Given the description of an element on the screen output the (x, y) to click on. 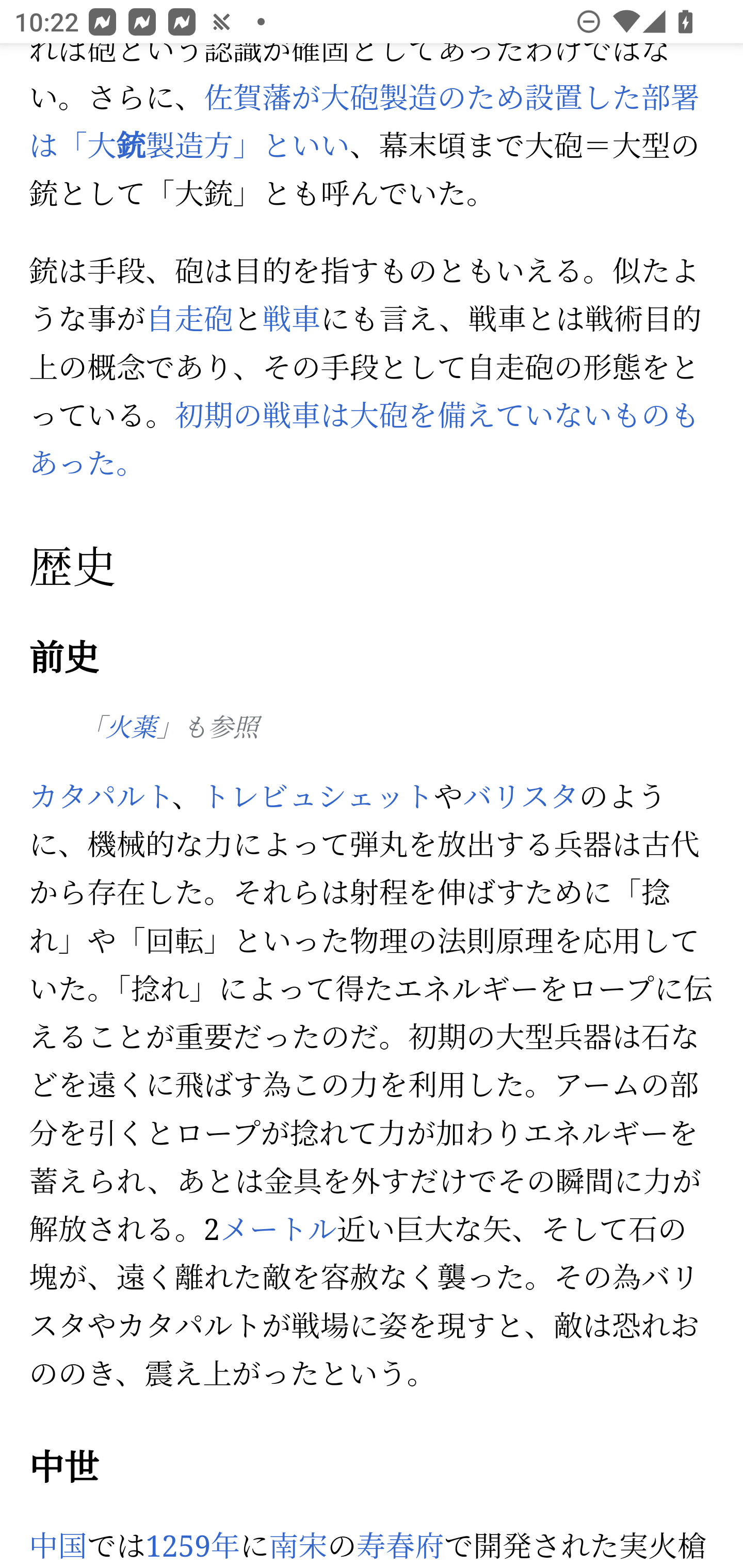
自走砲 (189, 319)
戦車 (291, 319)
初期の戦車は大砲を備えていないものもあった。 (364, 441)
火薬 (130, 728)
カタパルト (100, 797)
トレビュシェット (316, 797)
バリスタ (520, 797)
メートル (277, 1231)
中国 (58, 1546)
1259年 (191, 1546)
南宋 (297, 1546)
寿春府 (400, 1546)
